Given the description of an element on the screen output the (x, y) to click on. 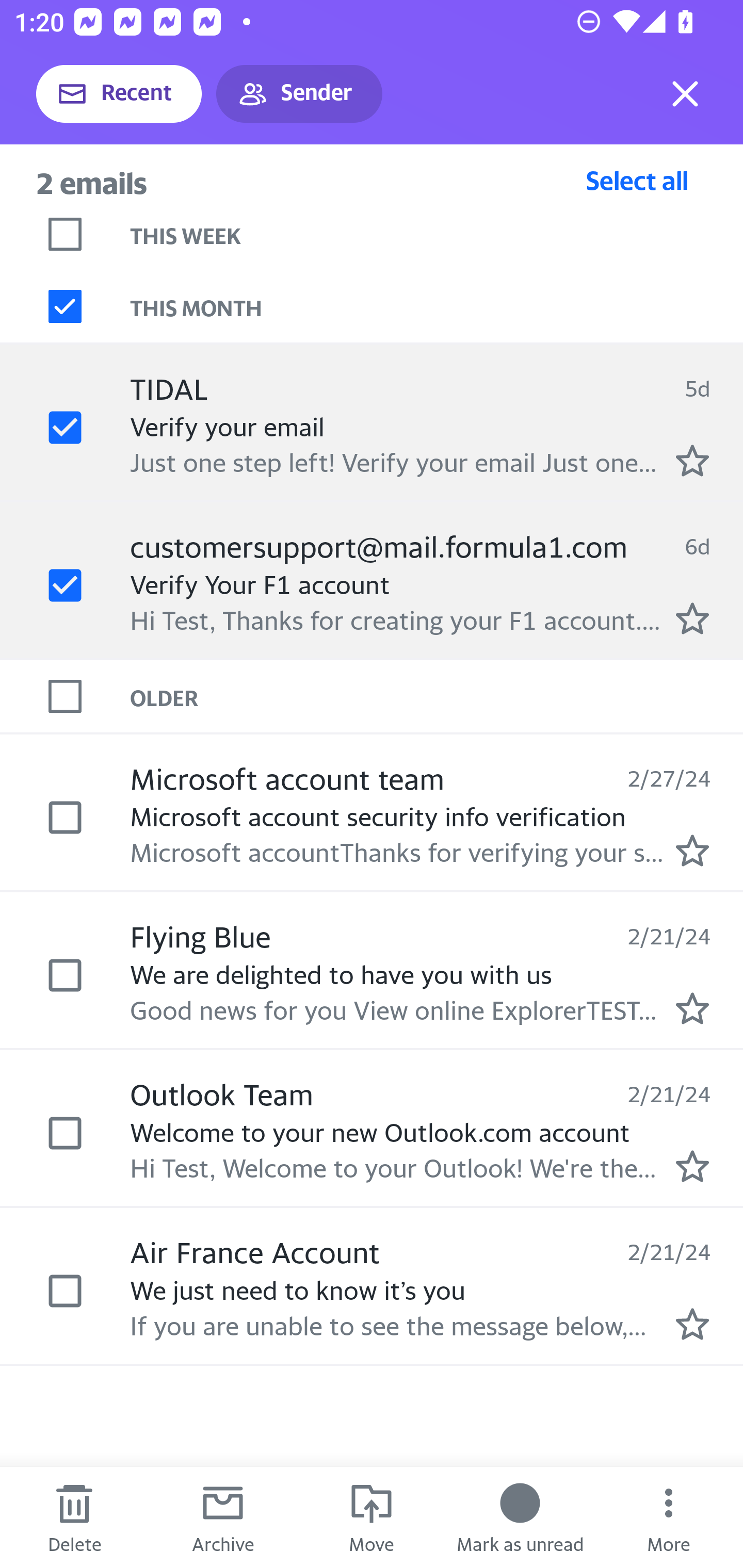
Sender (299, 93)
Exit selection mode (684, 93)
Select all (637, 180)
THIS MONTH (436, 306)
Mark as starred. (692, 460)
Mark as starred. (692, 618)
OLDER (436, 696)
Mark as starred. (692, 850)
Mark as starred. (692, 1008)
Mark as starred. (692, 1165)
Mark as starred. (692, 1324)
Delete (74, 1517)
Archive (222, 1517)
Move (371, 1517)
Mark as unread (519, 1517)
More (668, 1517)
